Given the description of an element on the screen output the (x, y) to click on. 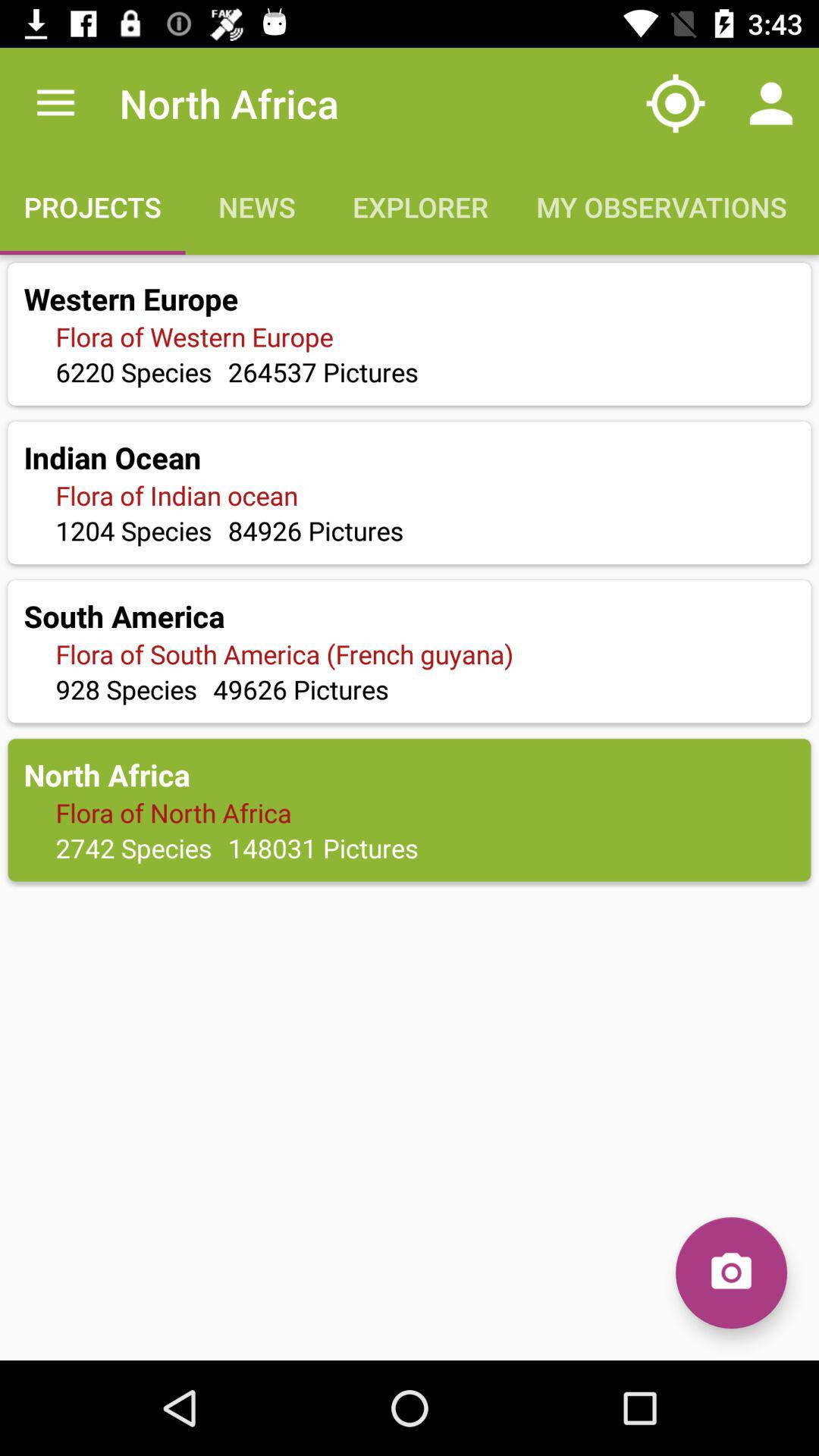
click the item next to north africa (55, 103)
